Given the description of an element on the screen output the (x, y) to click on. 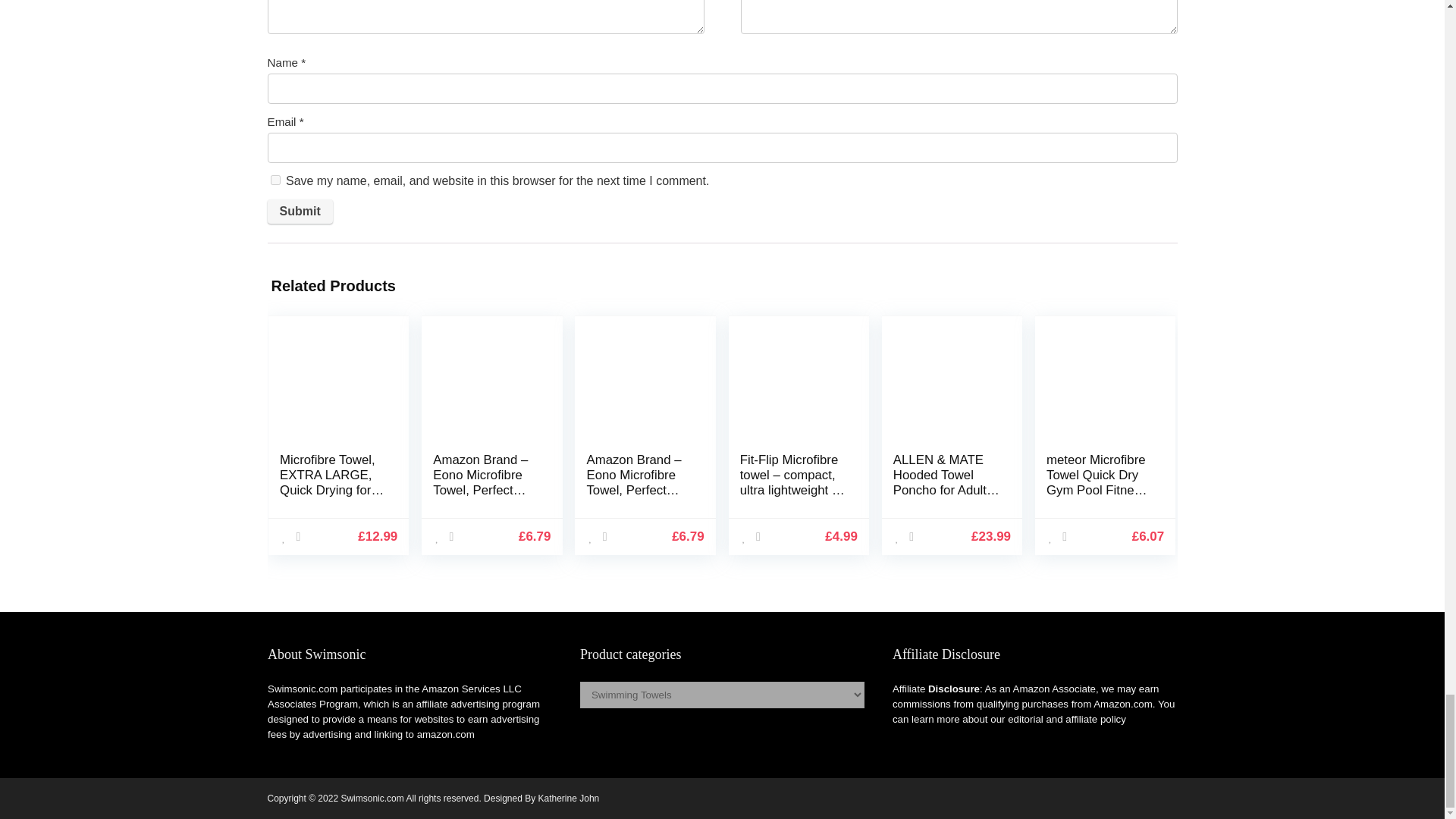
Submit (298, 211)
Submit (298, 211)
yes (274, 180)
